Given the description of an element on the screen output the (x, y) to click on. 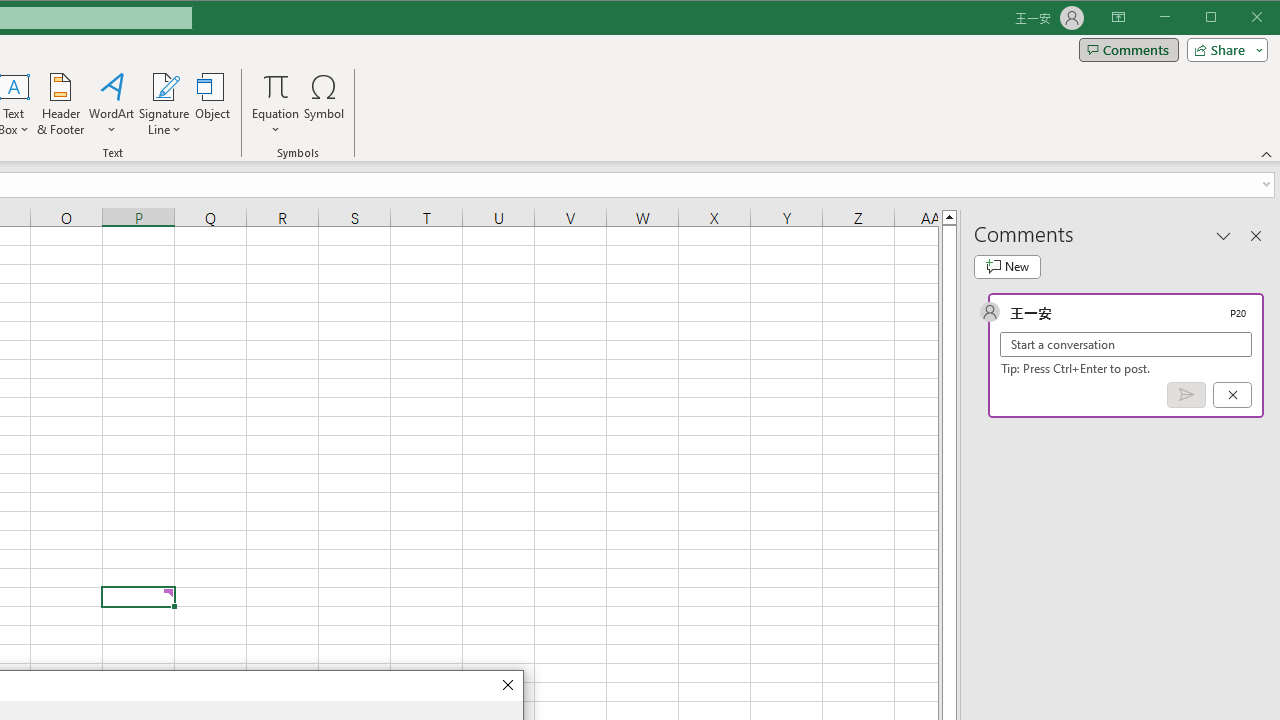
Signature Line (164, 104)
Maximize (1239, 18)
Signature Line (164, 86)
Object... (213, 104)
WordArt (111, 104)
Header & Footer... (60, 104)
